Given the description of an element on the screen output the (x, y) to click on. 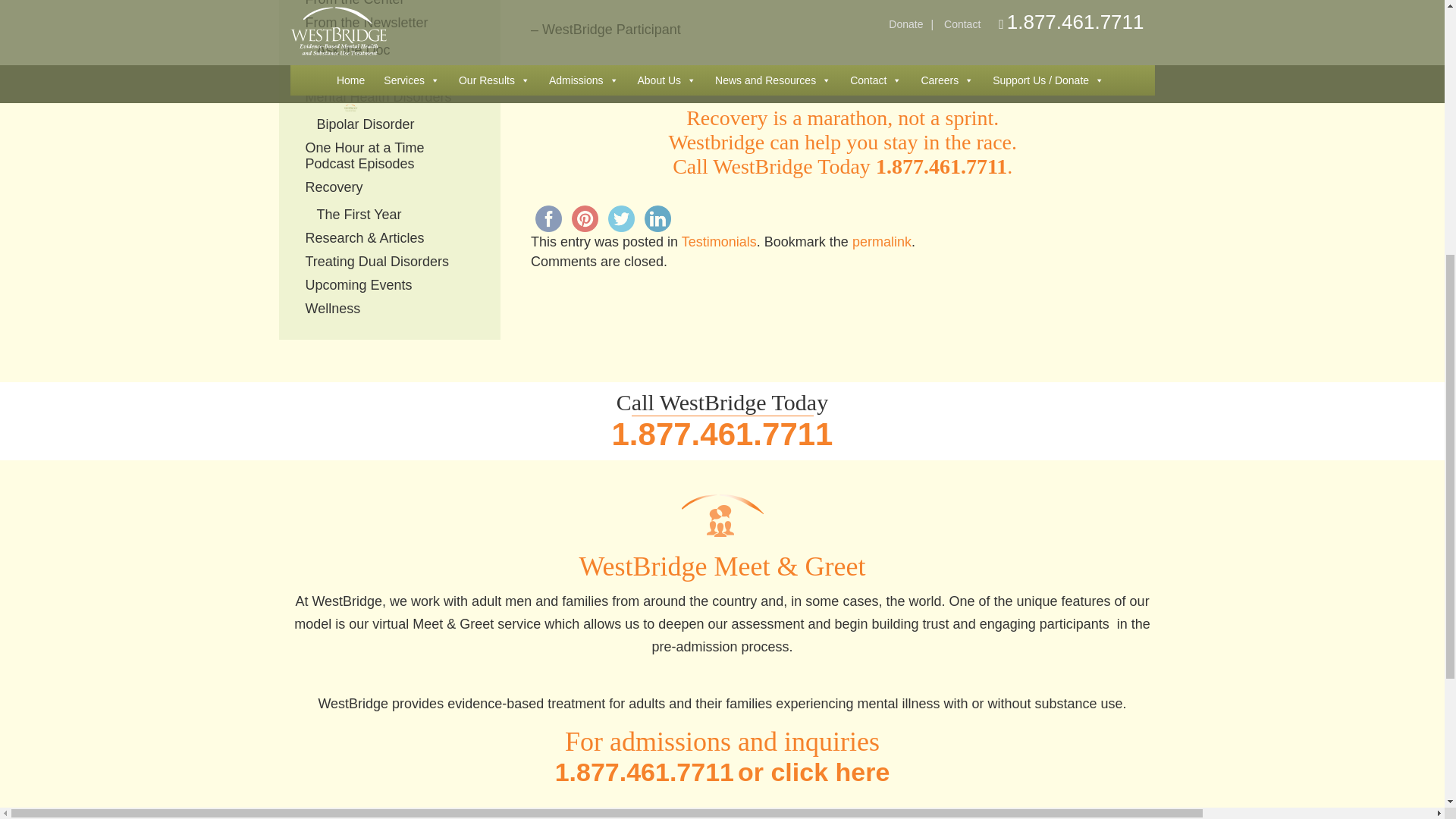
Permalink to I Am a Firm Believer (881, 241)
linkedin (657, 218)
pinterest (584, 218)
facebook (548, 218)
twitter (621, 218)
